Given the description of an element on the screen output the (x, y) to click on. 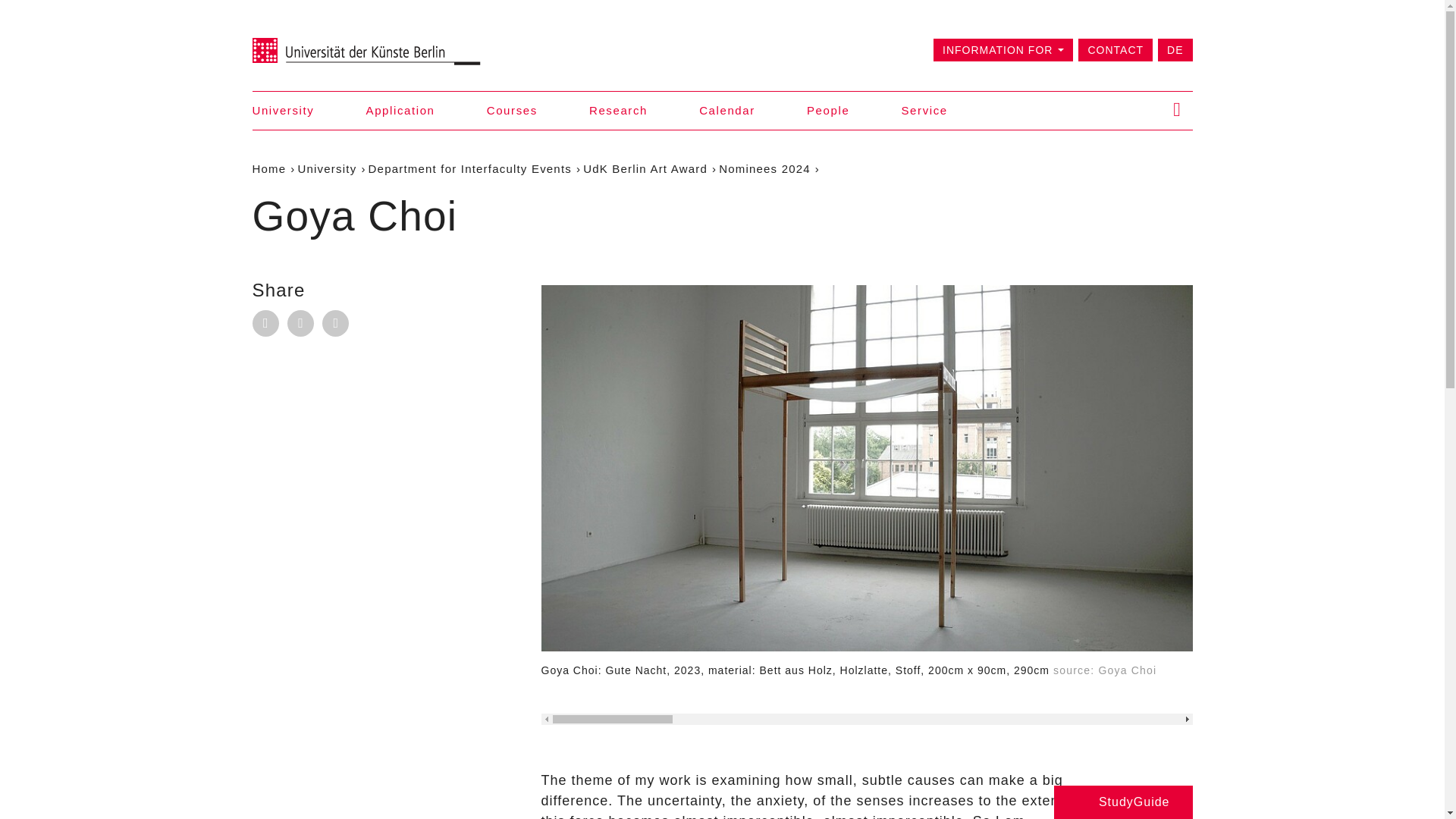
University (327, 168)
Share via E-Mail (264, 323)
Calendar (726, 110)
Share on Twitter (335, 323)
CONTACT (1115, 49)
Department for Interfaculty Events (470, 168)
Nominees 2024 (764, 168)
Research (618, 110)
Courses (511, 110)
Application (400, 110)
